Given the description of an element on the screen output the (x, y) to click on. 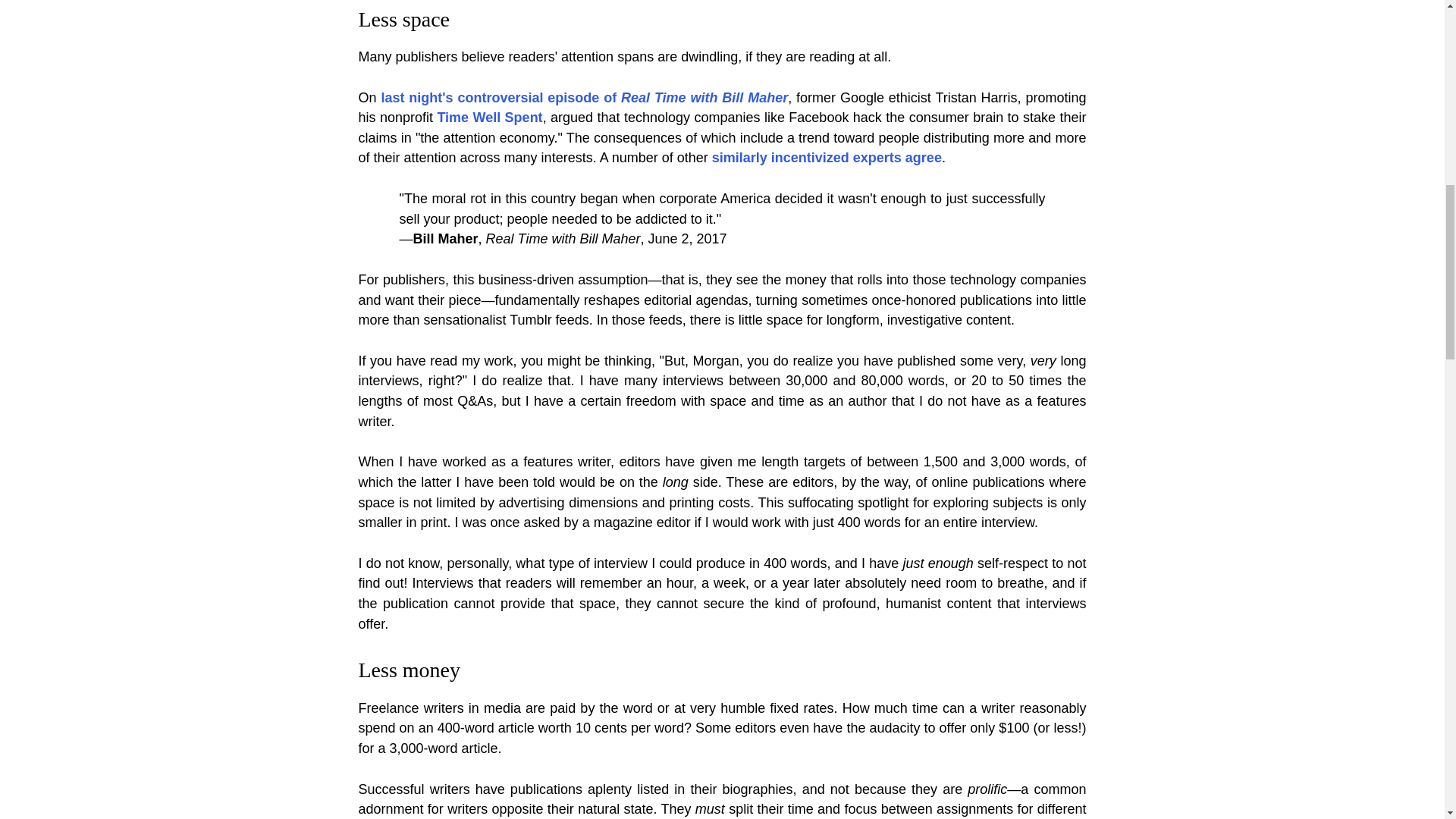
Time Well Spent (488, 117)
similarly incentivized experts agree (826, 157)
